Given the description of an element on the screen output the (x, y) to click on. 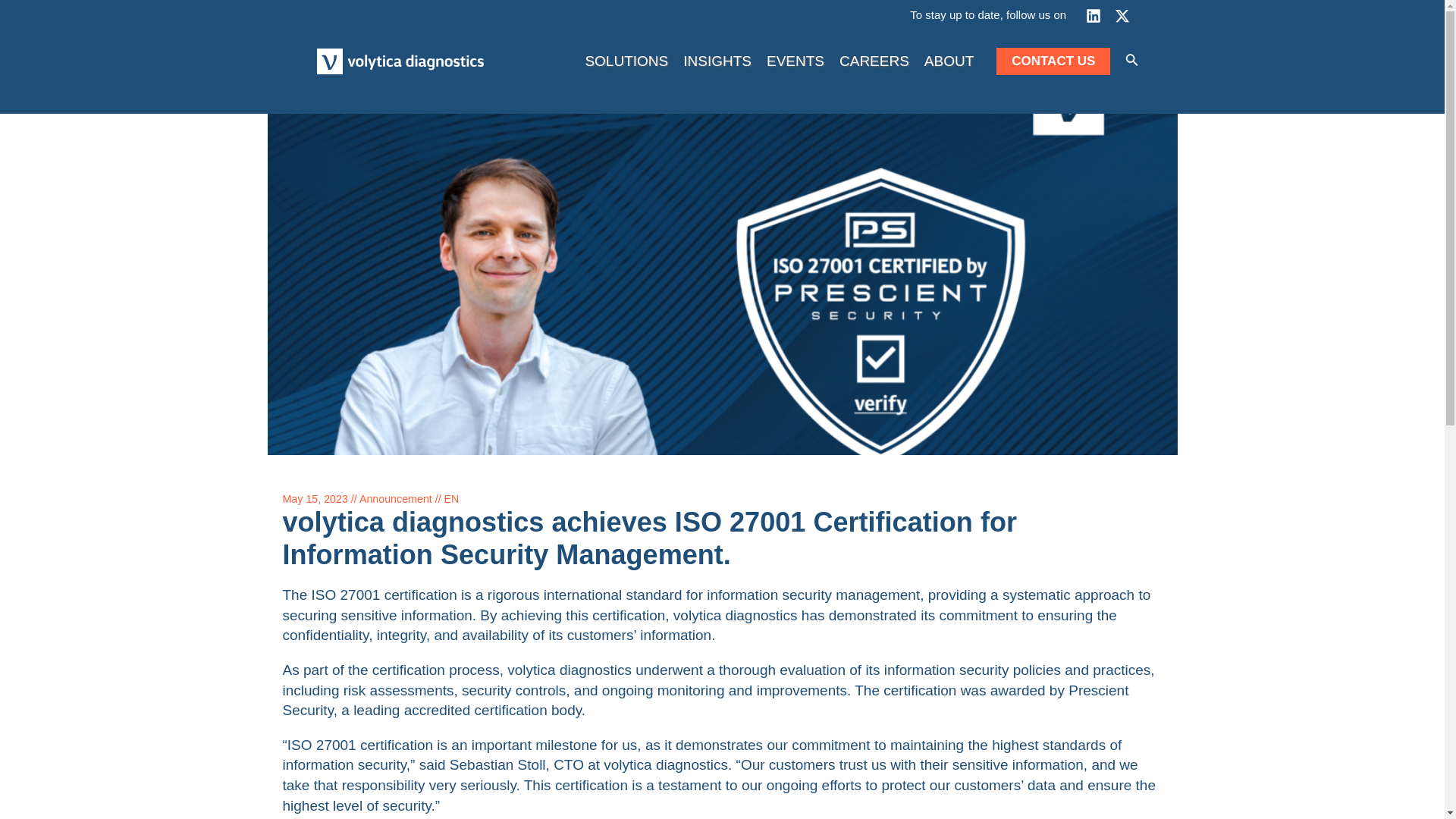
EVENTS (794, 60)
CONTACT US (1052, 61)
INSIGHTS (716, 60)
ABOUT (949, 60)
SOLUTIONS (625, 60)
CAREERS (874, 60)
